Given the description of an element on the screen output the (x, y) to click on. 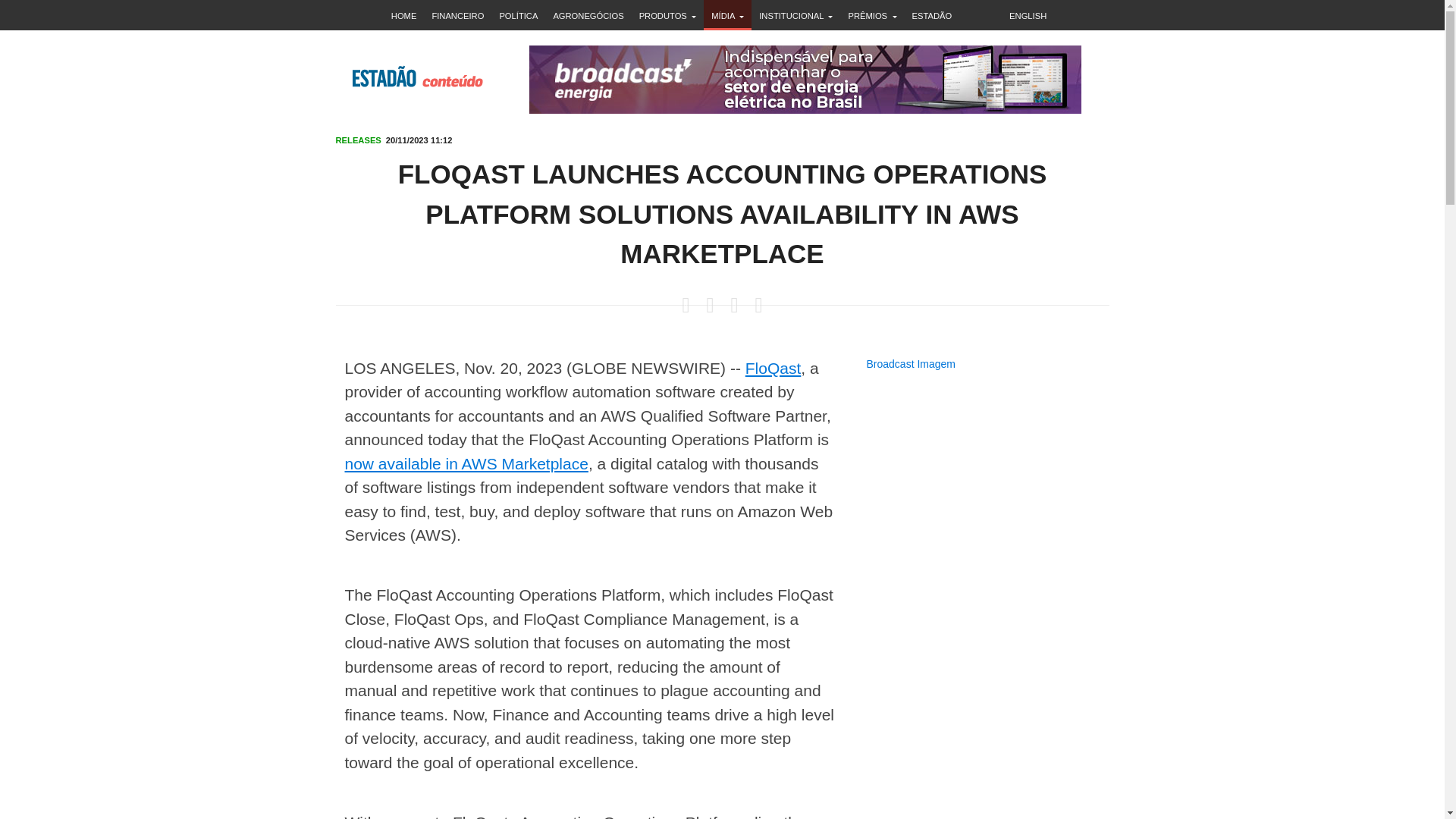
Home (404, 15)
ENGLISH (1031, 15)
now available in AWS Marketplace (465, 463)
FINANCEIRO (457, 15)
HOME (404, 15)
INSTITUCIONAL (795, 15)
PRODUTOS (667, 15)
FloQast (773, 367)
Financeiro (457, 15)
Produtos (667, 15)
